Given the description of an element on the screen output the (x, y) to click on. 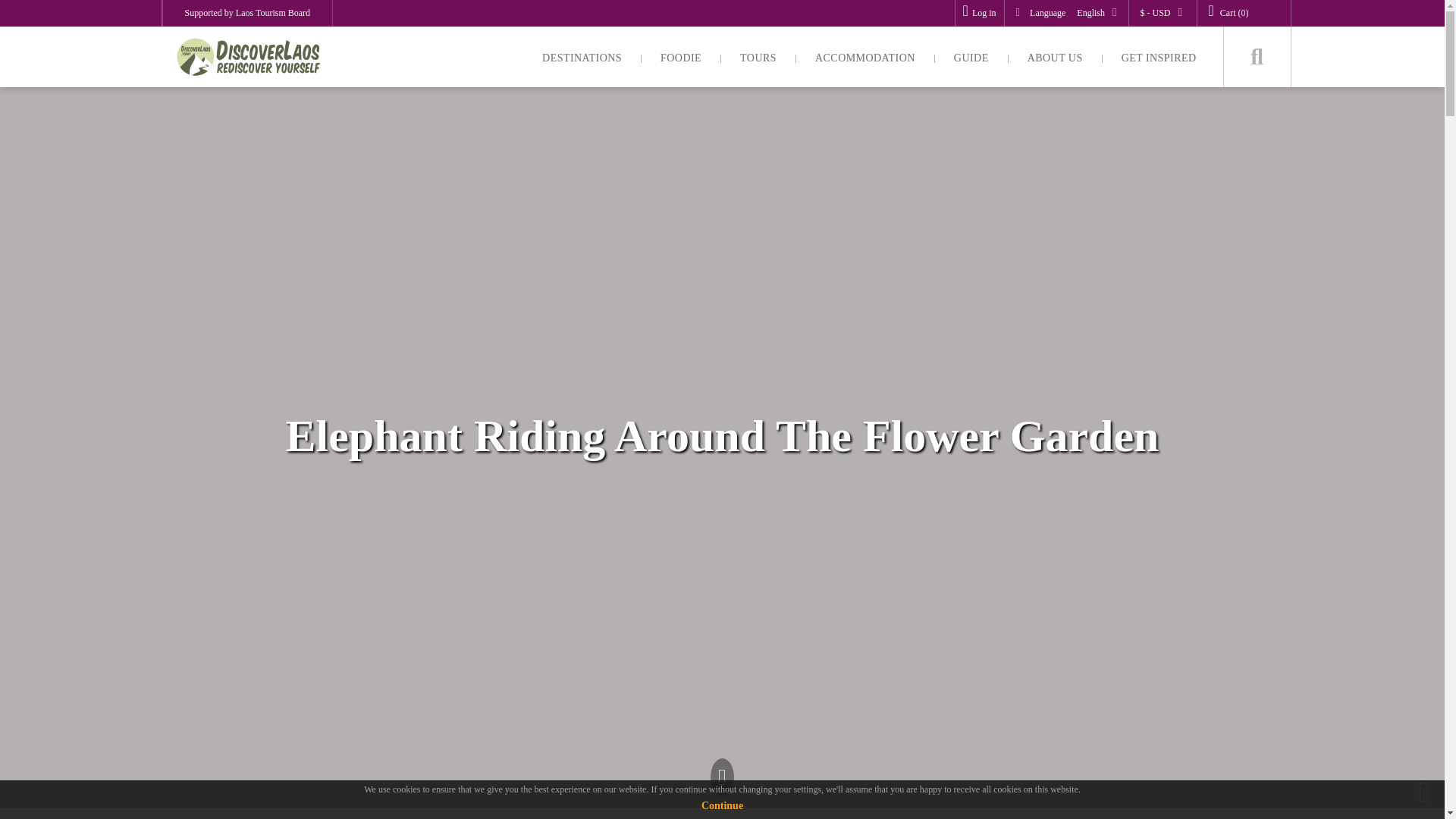
Log in (978, 12)
Supported by Laos Tourism Board (247, 13)
DESTINATIONS (581, 56)
Log in (978, 12)
Destinations (581, 56)
Supported by Laos Tourism Board (247, 13)
